Given the description of an element on the screen output the (x, y) to click on. 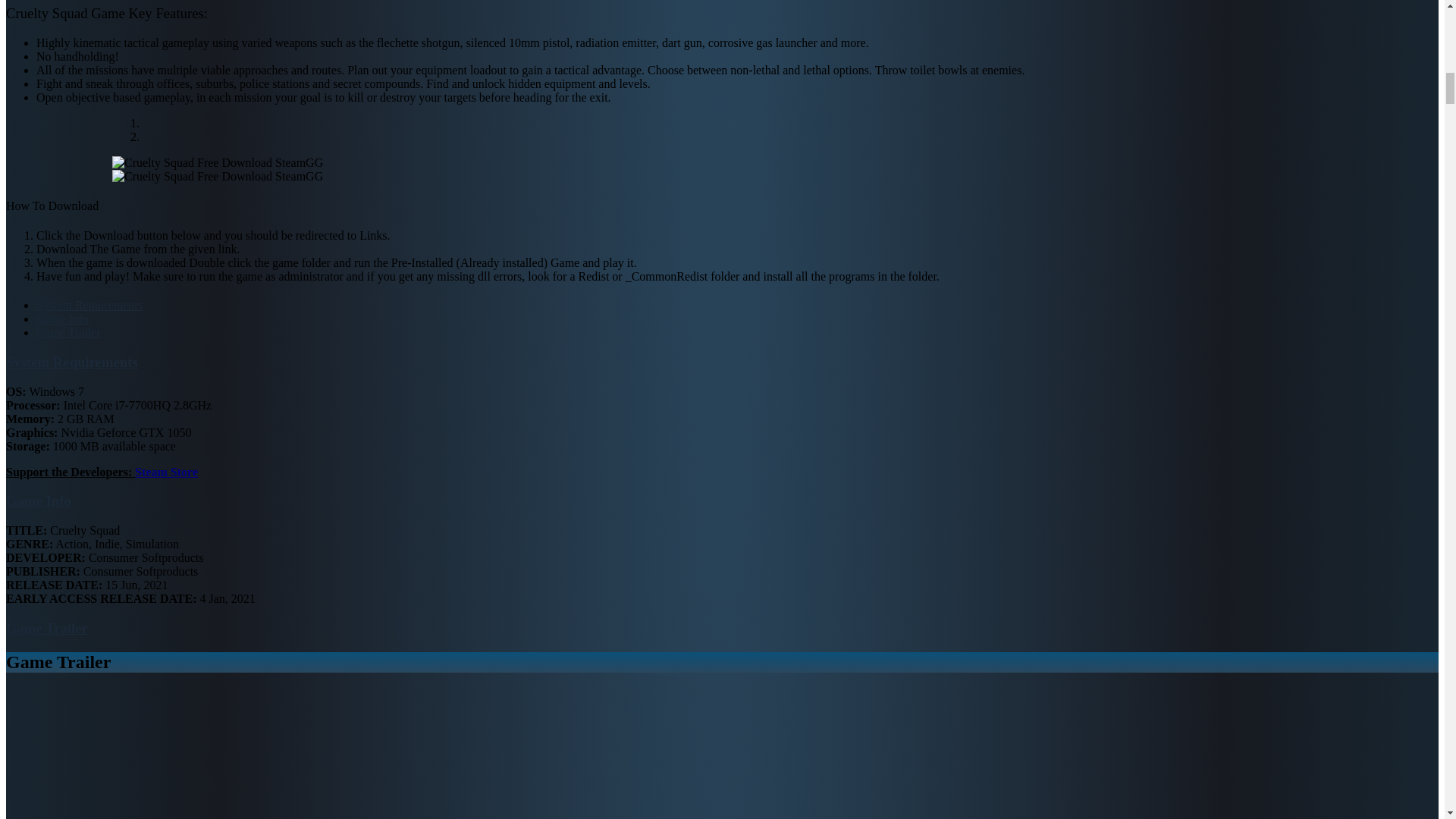
Cruelty Squad Free Download SteamGG (217, 162)
Cruelty Squad 1.0 Launch Trailer (195, 753)
Cruelty Squad Free Download SteamGG (217, 176)
